Given the description of an element on the screen output the (x, y) to click on. 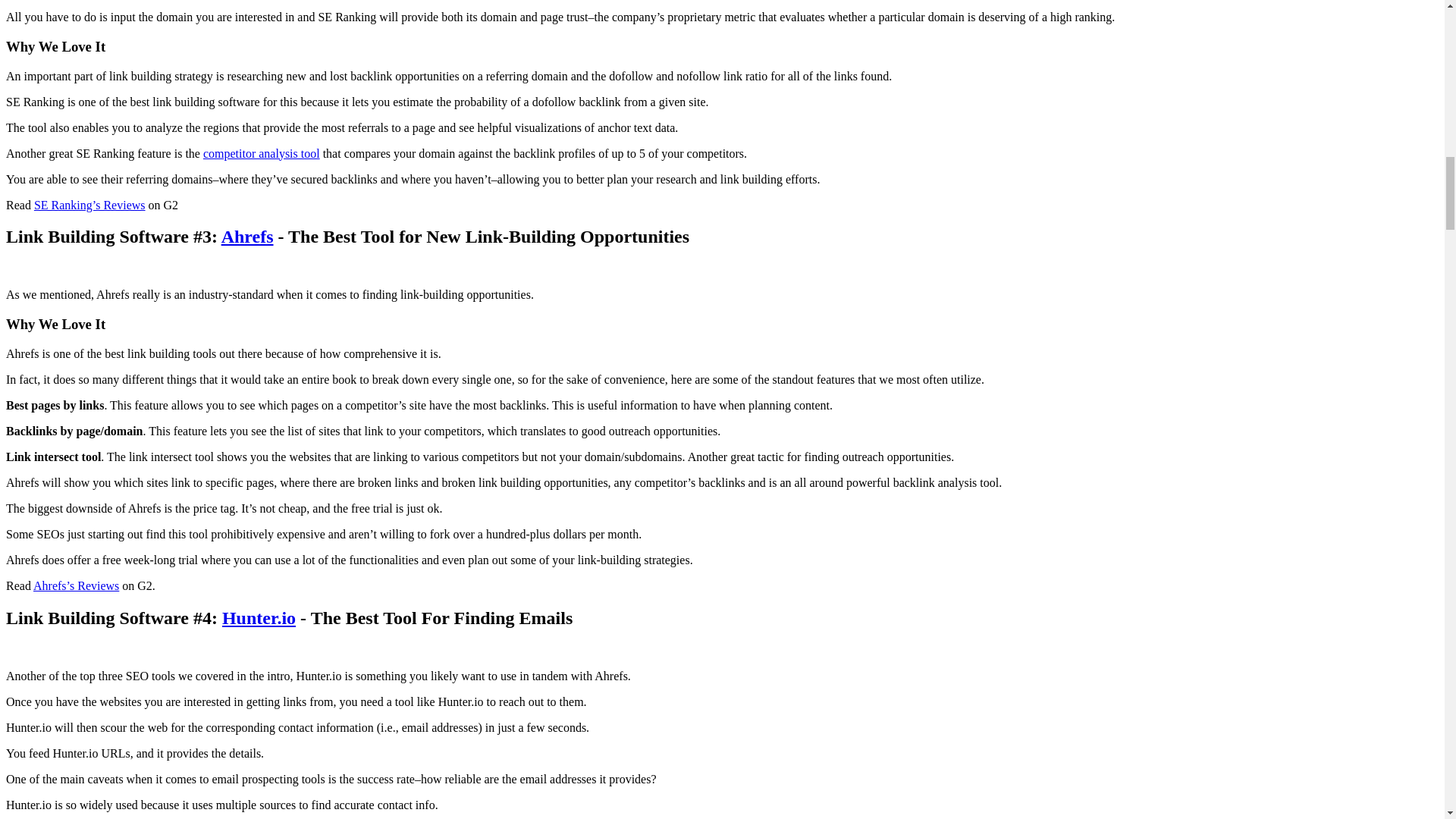
Hunter.io (258, 618)
competitor analysis tool (261, 153)
Ahrefs (247, 236)
